Given the description of an element on the screen output the (x, y) to click on. 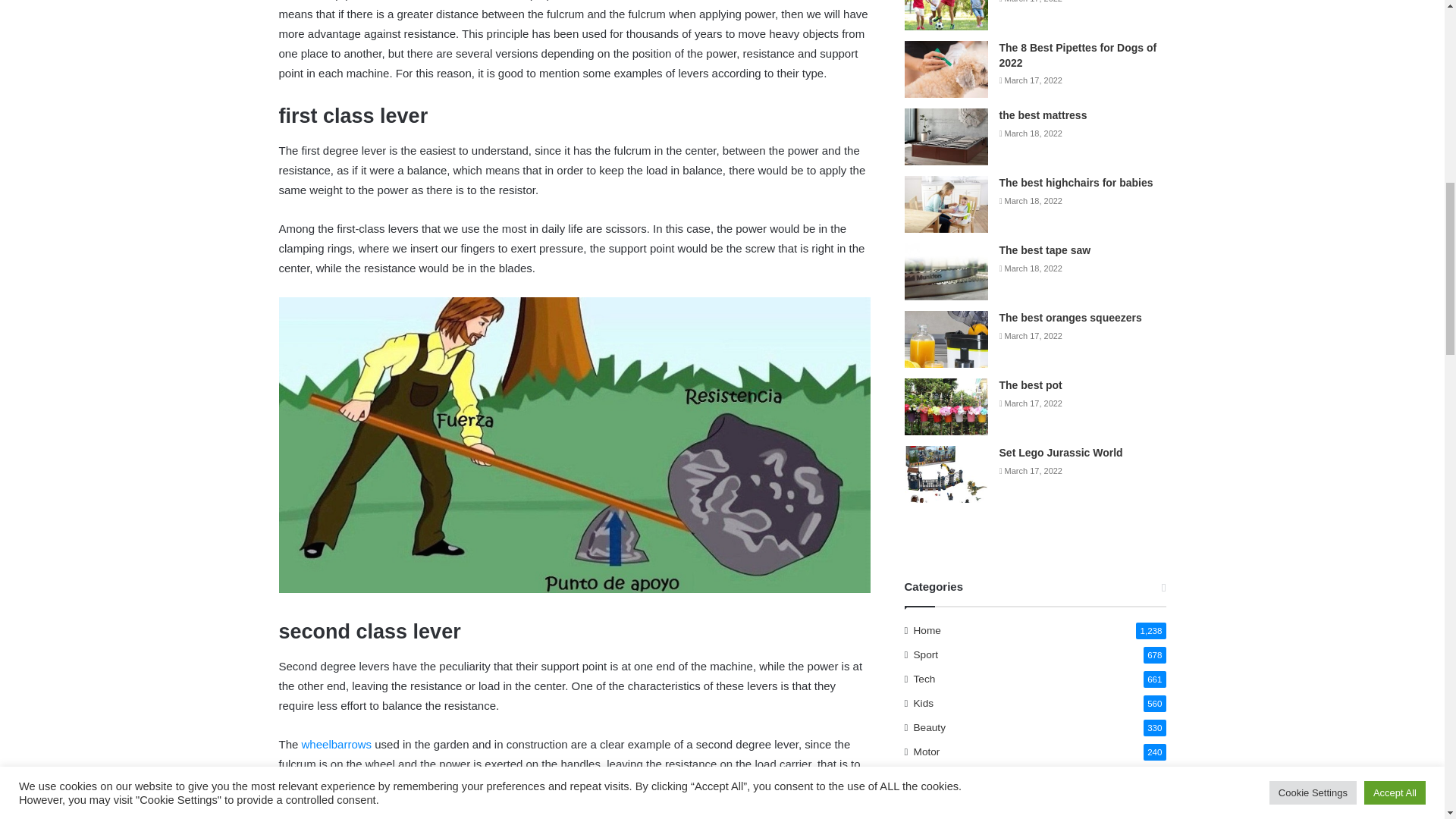
wheelbarrows (336, 744)
